Given the description of an element on the screen output the (x, y) to click on. 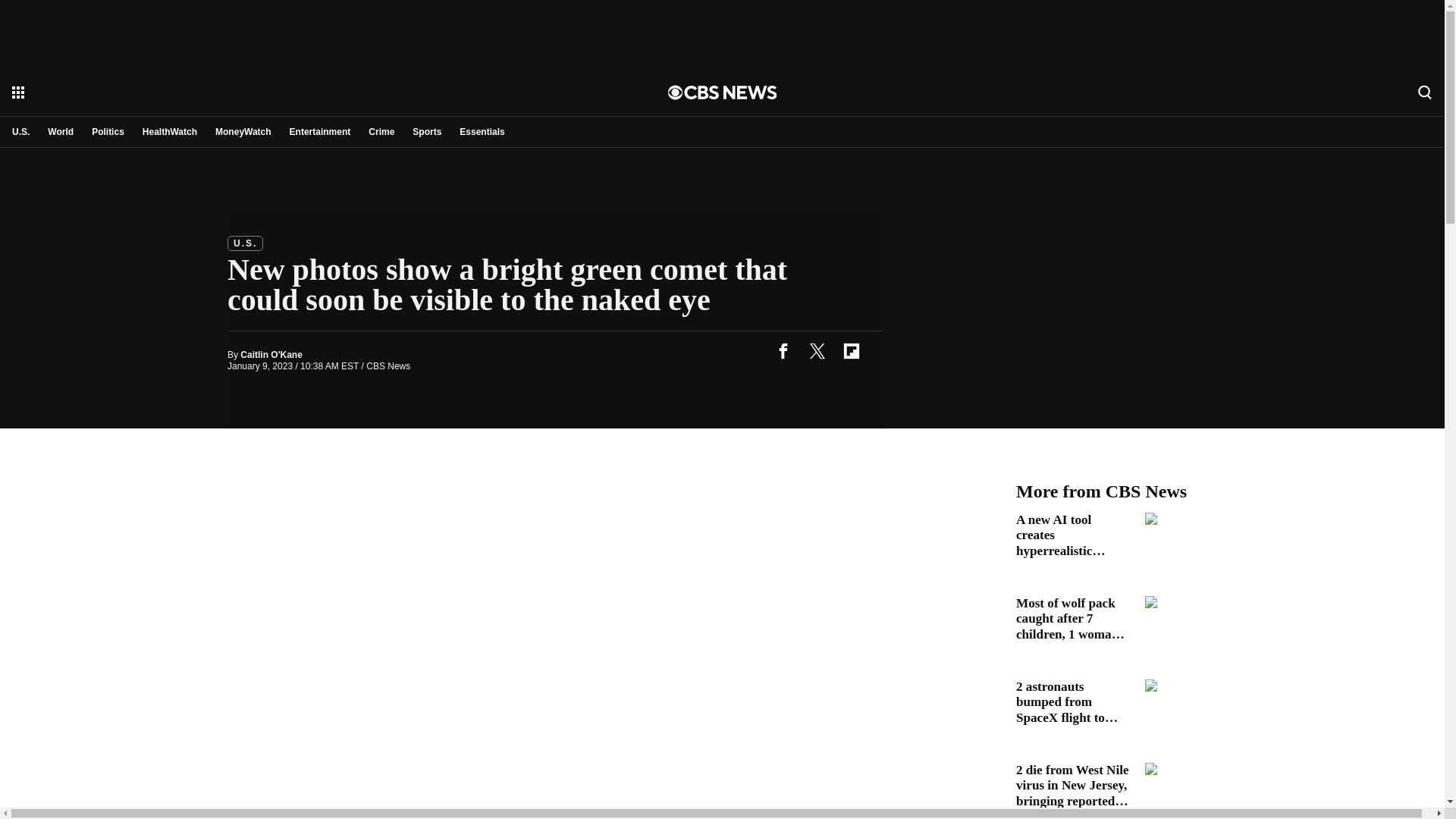
twitter (816, 350)
flipboard (850, 350)
facebook (782, 350)
